Given the description of an element on the screen output the (x, y) to click on. 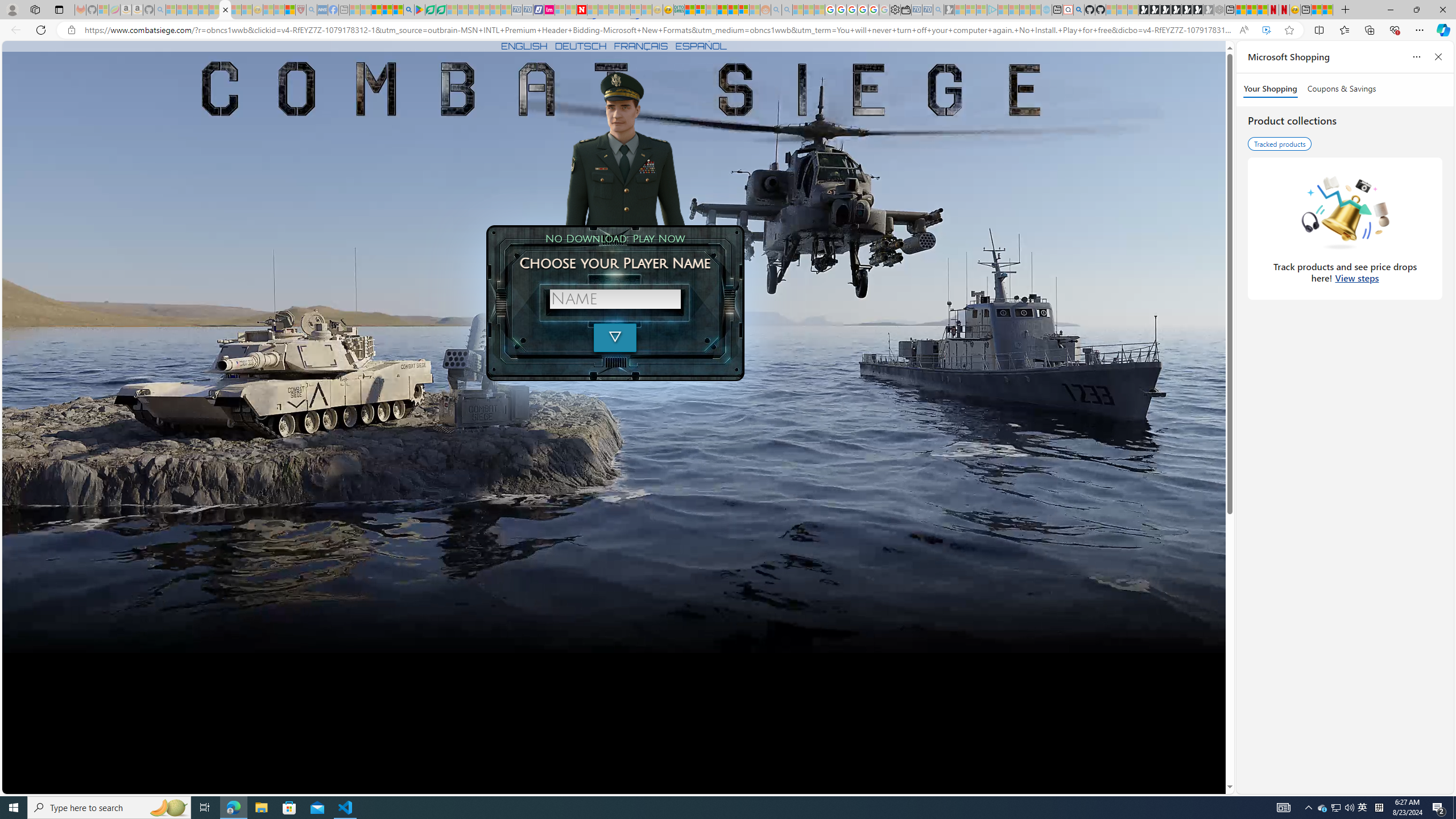
14 Common Myths Debunked By Scientific Facts - Sleeping (602, 9)
Home | Sky Blue Bikes - Sky Blue Bikes - Sleeping (1046, 9)
The Weather Channel - MSN - Sleeping (192, 9)
google - Search (408, 9)
Microsoft Start Gaming - Sleeping (949, 9)
Utah sues federal government - Search - Sleeping (787, 9)
